Given the description of an element on the screen output the (x, y) to click on. 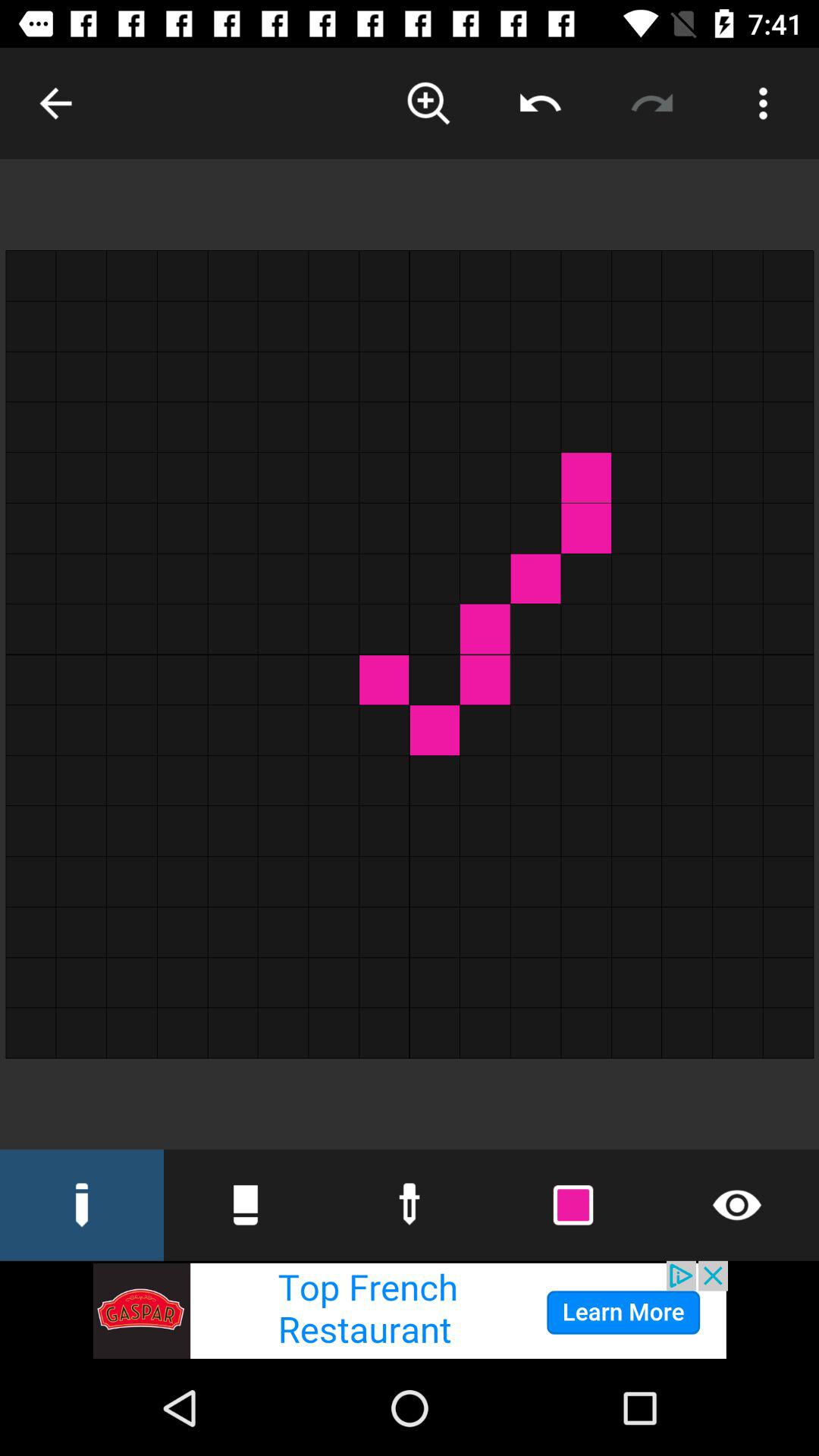
previous button (540, 103)
